Given the description of an element on the screen output the (x, y) to click on. 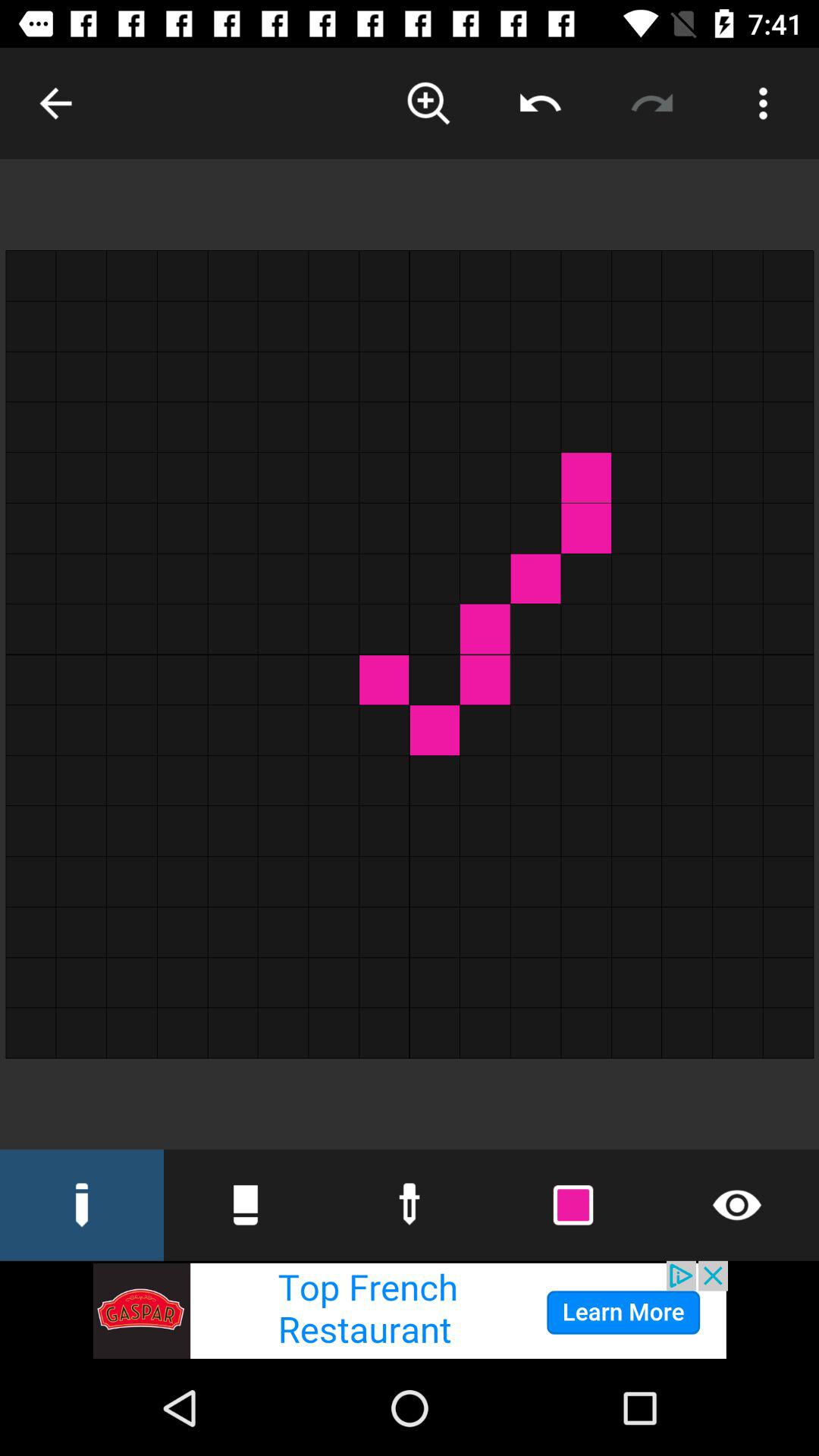
previous button (540, 103)
